Given the description of an element on the screen output the (x, y) to click on. 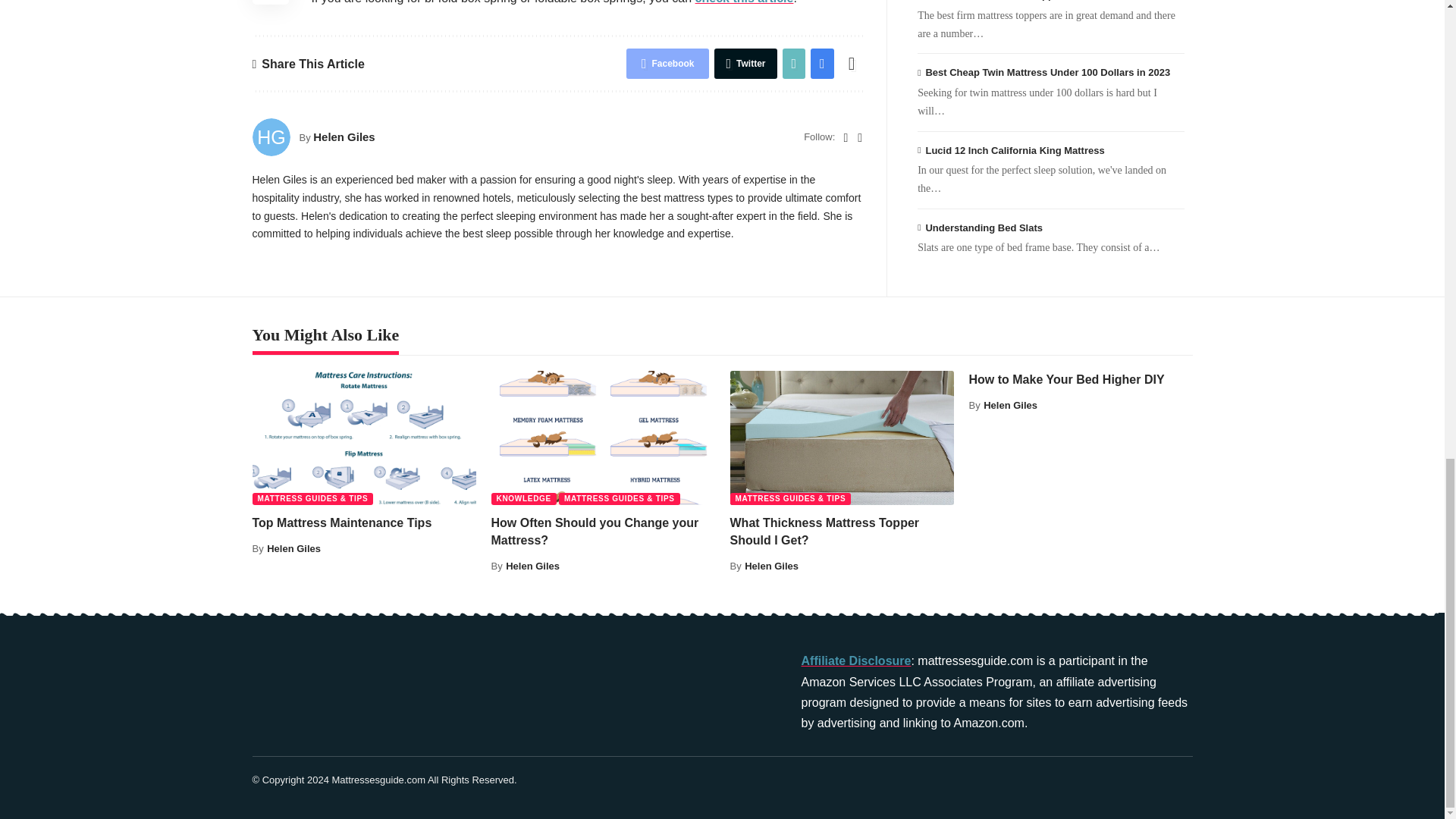
How Often Should you Change your Mattress? (603, 438)
What Thickness Mattress Topper Should I Get? (841, 438)
Top Mattress Maintenance Tips (363, 438)
